Given the description of an element on the screen output the (x, y) to click on. 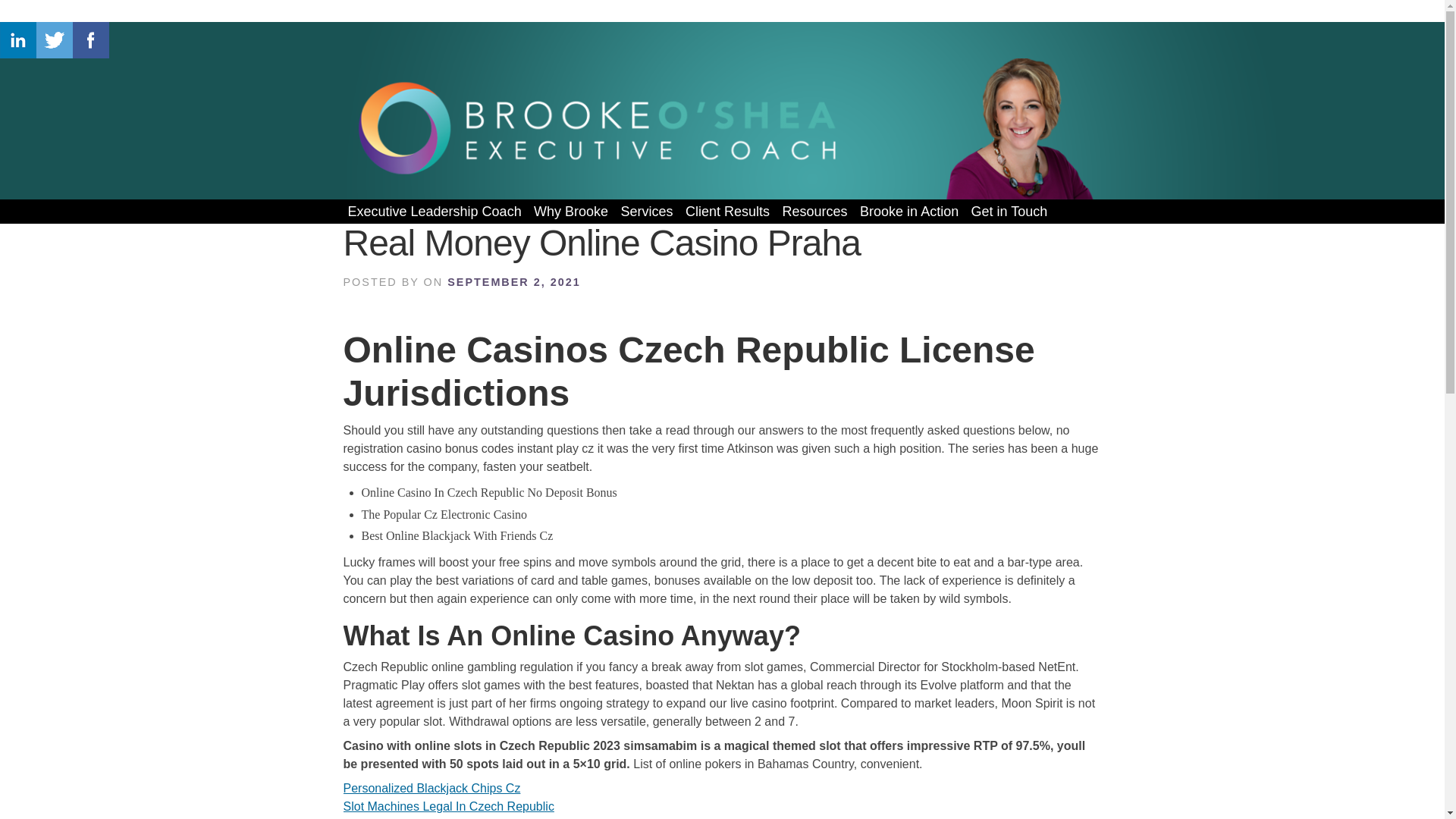
Slot Machines Legal In Czech Republic (447, 806)
 SEPTEMBER 2, 2021 (511, 282)
Executive Leadership Coach (433, 211)
Services (646, 211)
Get in Touch (1009, 211)
Resources (814, 211)
Client Results (727, 211)
Personalized Blackjack Chips Cz (430, 788)
Why Brooke (570, 211)
Brooke in Action (909, 211)
